Given the description of an element on the screen output the (x, y) to click on. 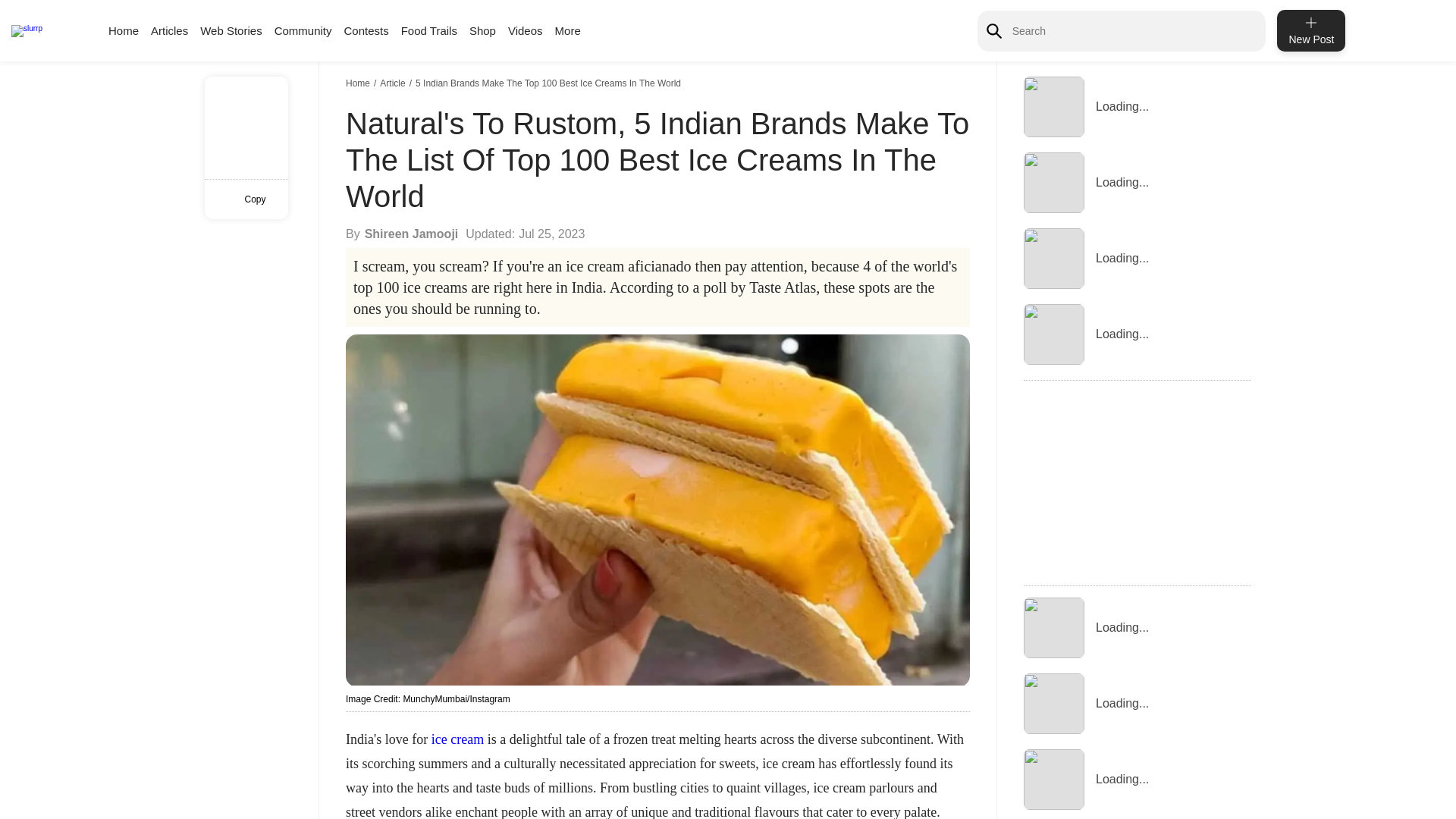
Videos (525, 30)
Community (303, 30)
Shop (482, 30)
Web Stories (231, 30)
Articles (169, 30)
Food Trails (429, 30)
Contests (365, 30)
New Post (1310, 30)
Home (122, 30)
Home (360, 82)
Article (394, 82)
